Given the description of an element on the screen output the (x, y) to click on. 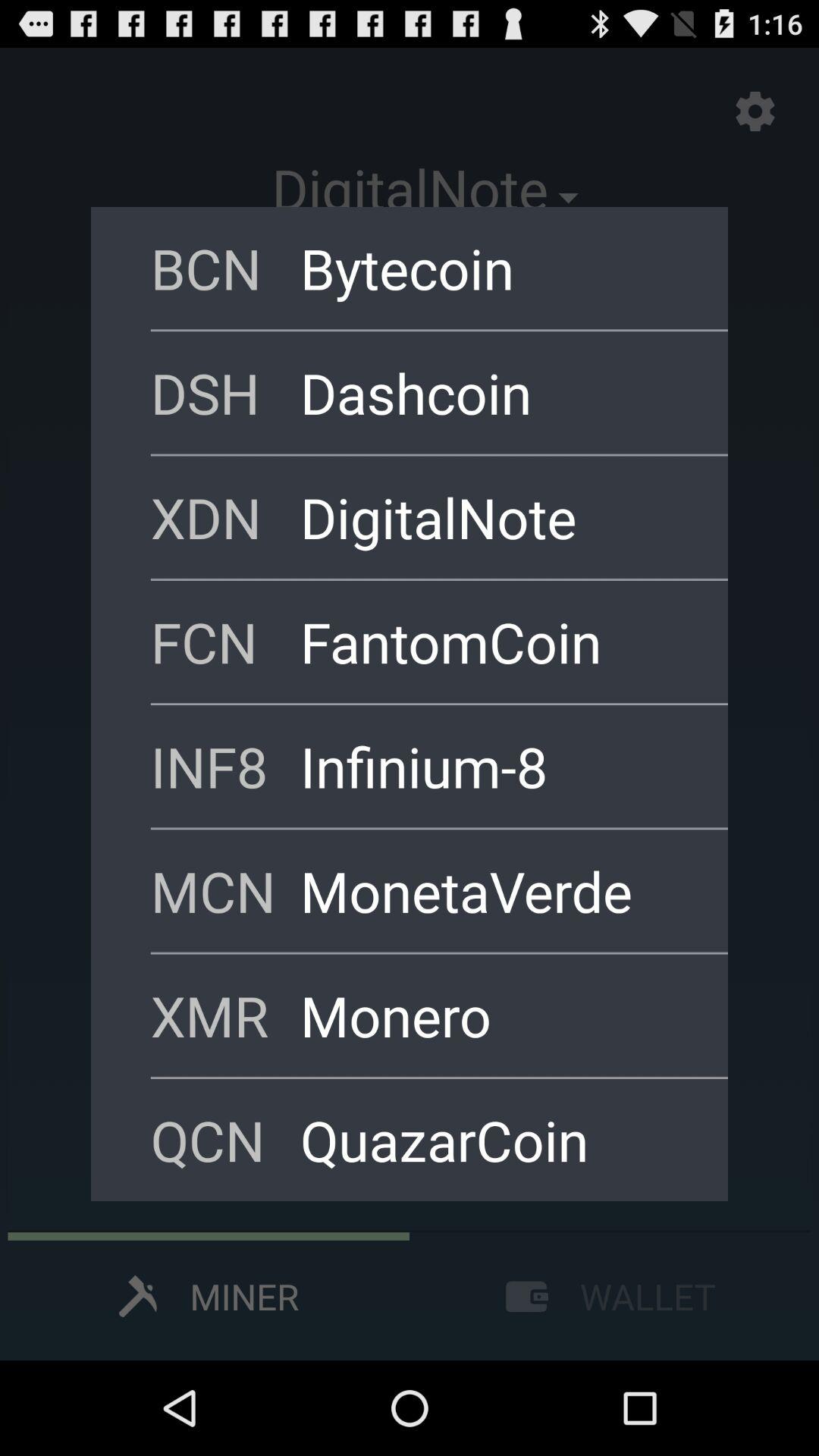
launch item below inf8 icon (225, 890)
